Given the description of an element on the screen output the (x, y) to click on. 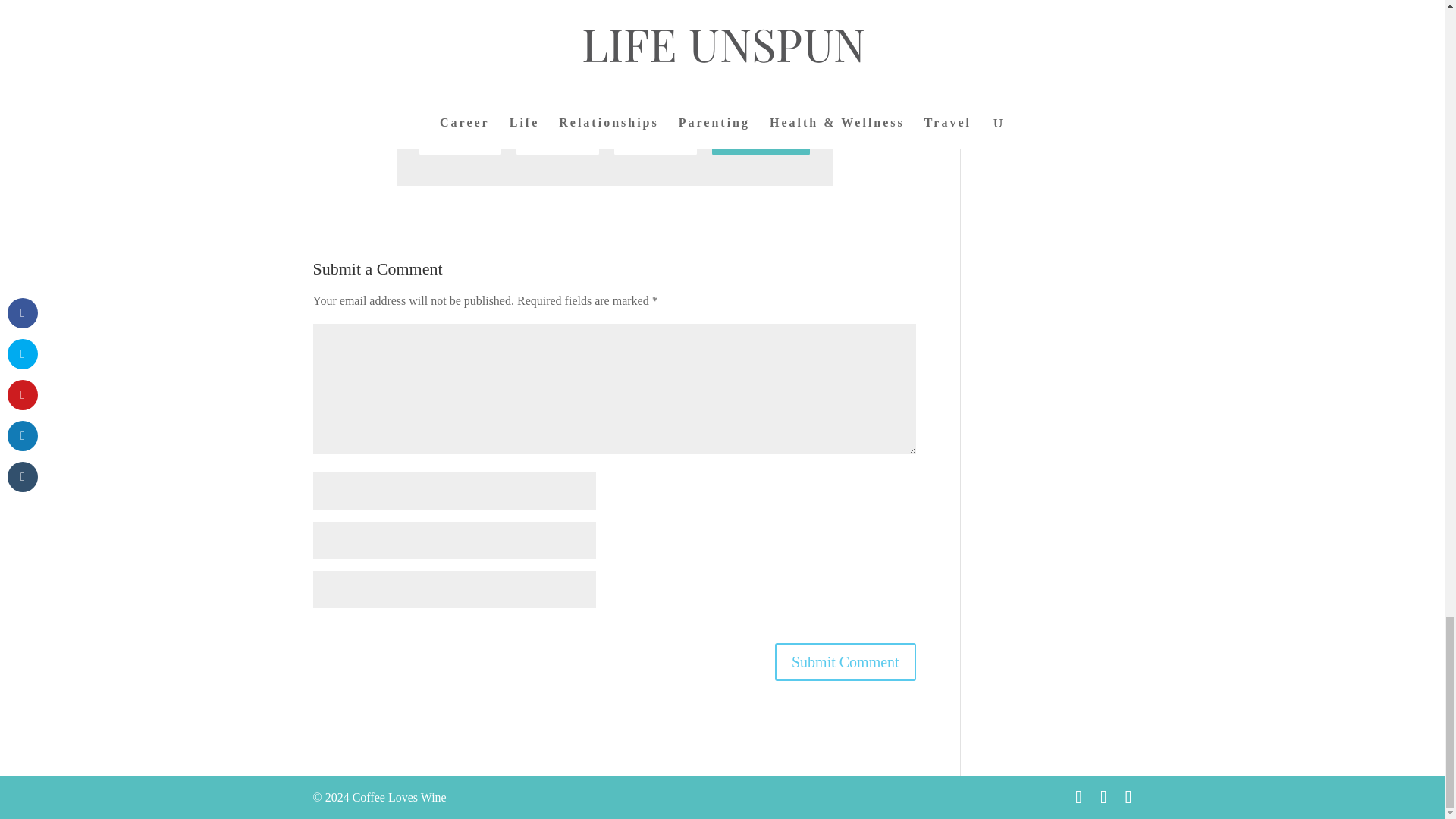
Submit Comment (844, 661)
Submit Comment (844, 661)
SUBSCRIBE! (760, 141)
